Given the description of an element on the screen output the (x, y) to click on. 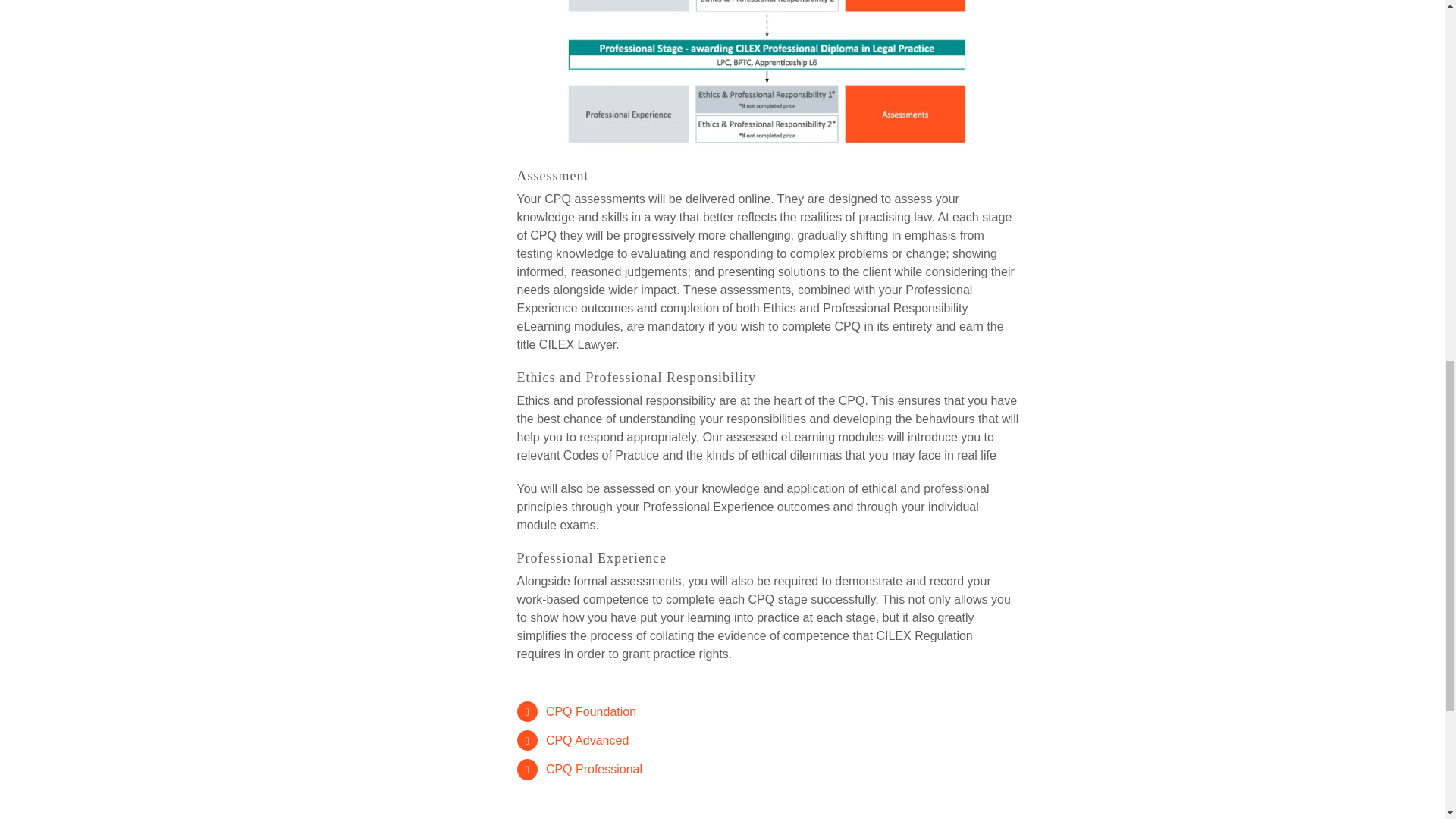
CPQ Elements diagram (768, 76)
